Given the description of an element on the screen output the (x, y) to click on. 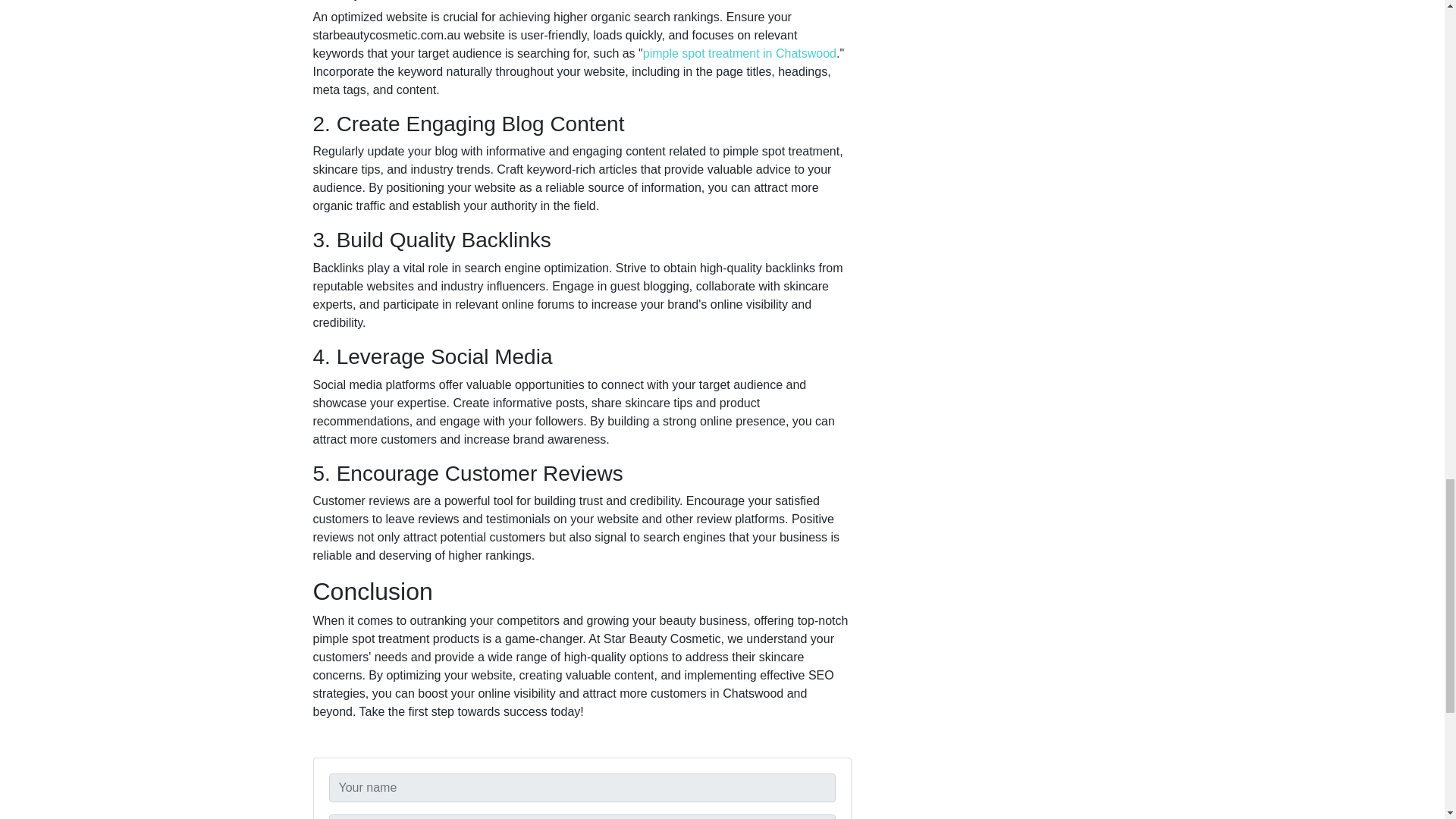
pimple spot treatment in Chatswood (739, 52)
